Given the description of an element on the screen output the (x, y) to click on. 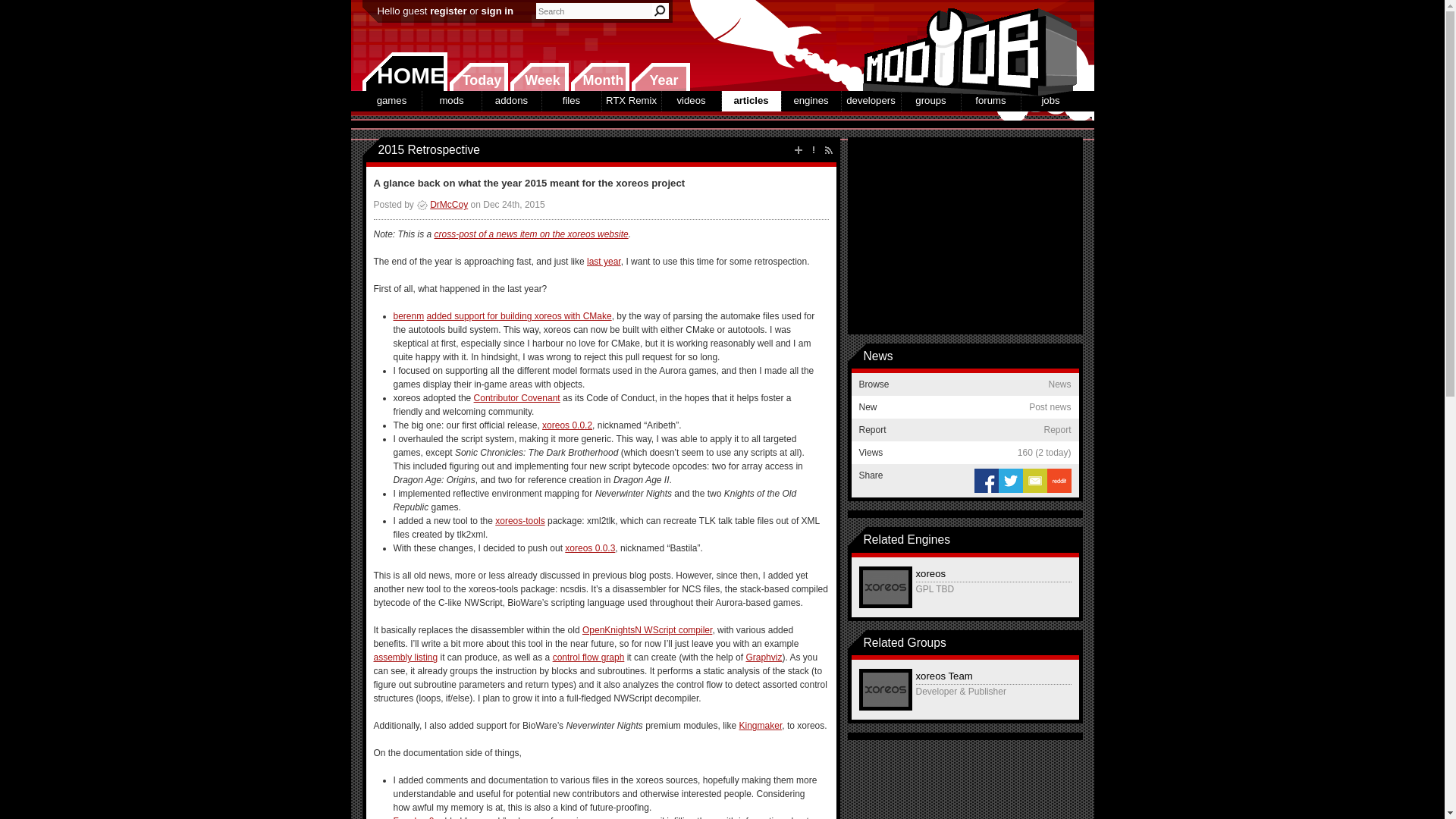
register (447, 10)
Today (478, 76)
sign in (497, 10)
Post news (797, 150)
Week (539, 76)
games (392, 100)
mods (451, 100)
ModDB Home (965, 45)
New today (478, 76)
New this year (660, 76)
Search (660, 10)
videos (690, 100)
Year (660, 76)
New this week (539, 76)
RSS (828, 150)
